Given the description of an element on the screen output the (x, y) to click on. 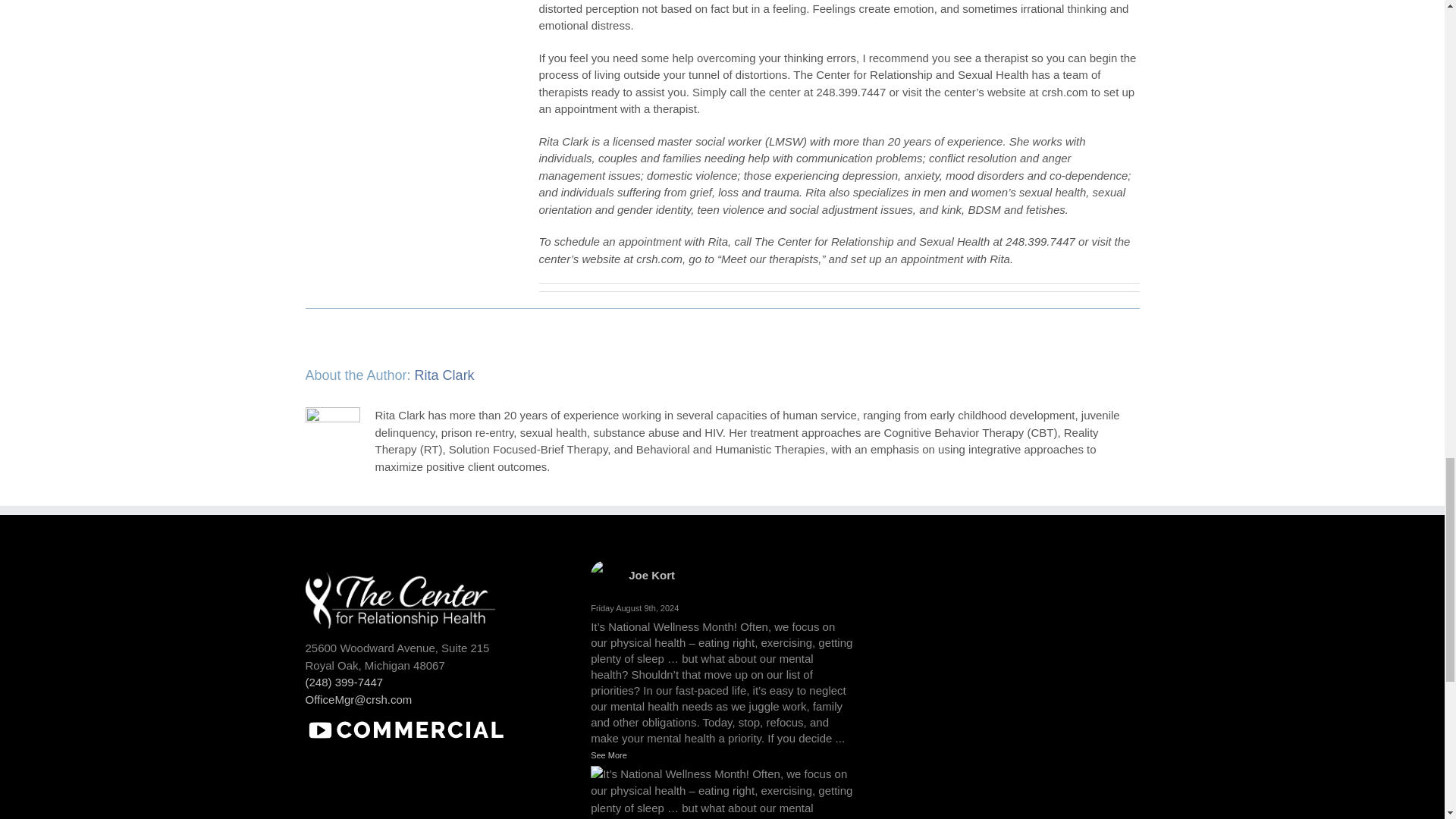
See More (609, 755)
YouTube video player (418, 785)
Joe Kort (651, 574)
Rita Clark (444, 375)
Posts by Rita Clark (444, 375)
